Given the description of an element on the screen output the (x, y) to click on. 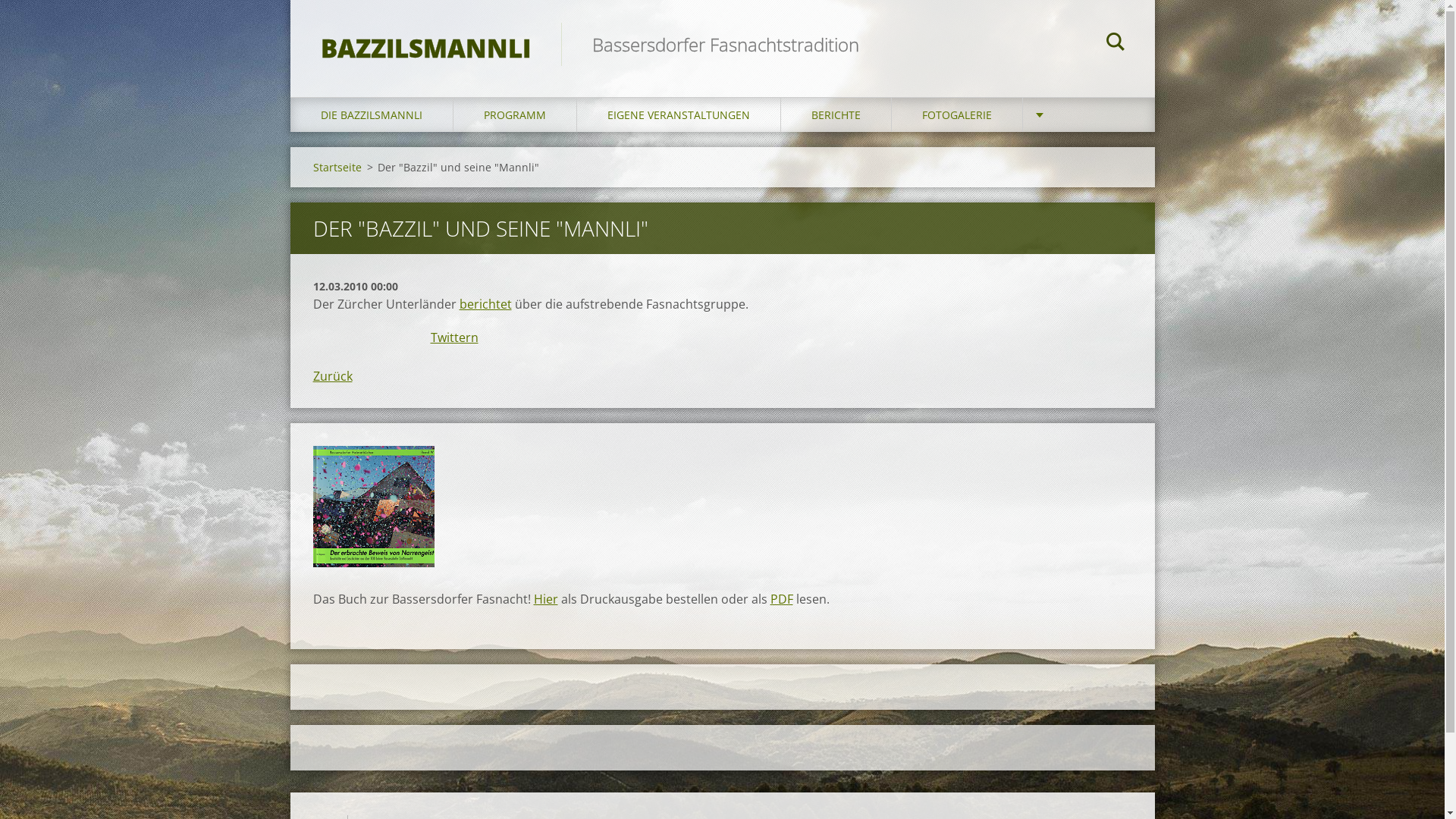
Hier Element type: text (545, 598)
Startseite Element type: text (336, 166)
DIE BAZZILSMANNLI Element type: text (370, 114)
Suchen Element type: text (1114, 43)
Twittern Element type: text (454, 337)
EIGENE VERANSTALTUNGEN Element type: text (678, 114)
PDF Element type: text (781, 598)
FOTOGALERIE Element type: text (956, 114)
BERICHTE Element type: text (836, 114)
berichtet Element type: text (485, 303)
PROGRAMM Element type: text (515, 114)
BAZZILSMANNLI Element type: text (424, 33)
